Given the description of an element on the screen output the (x, y) to click on. 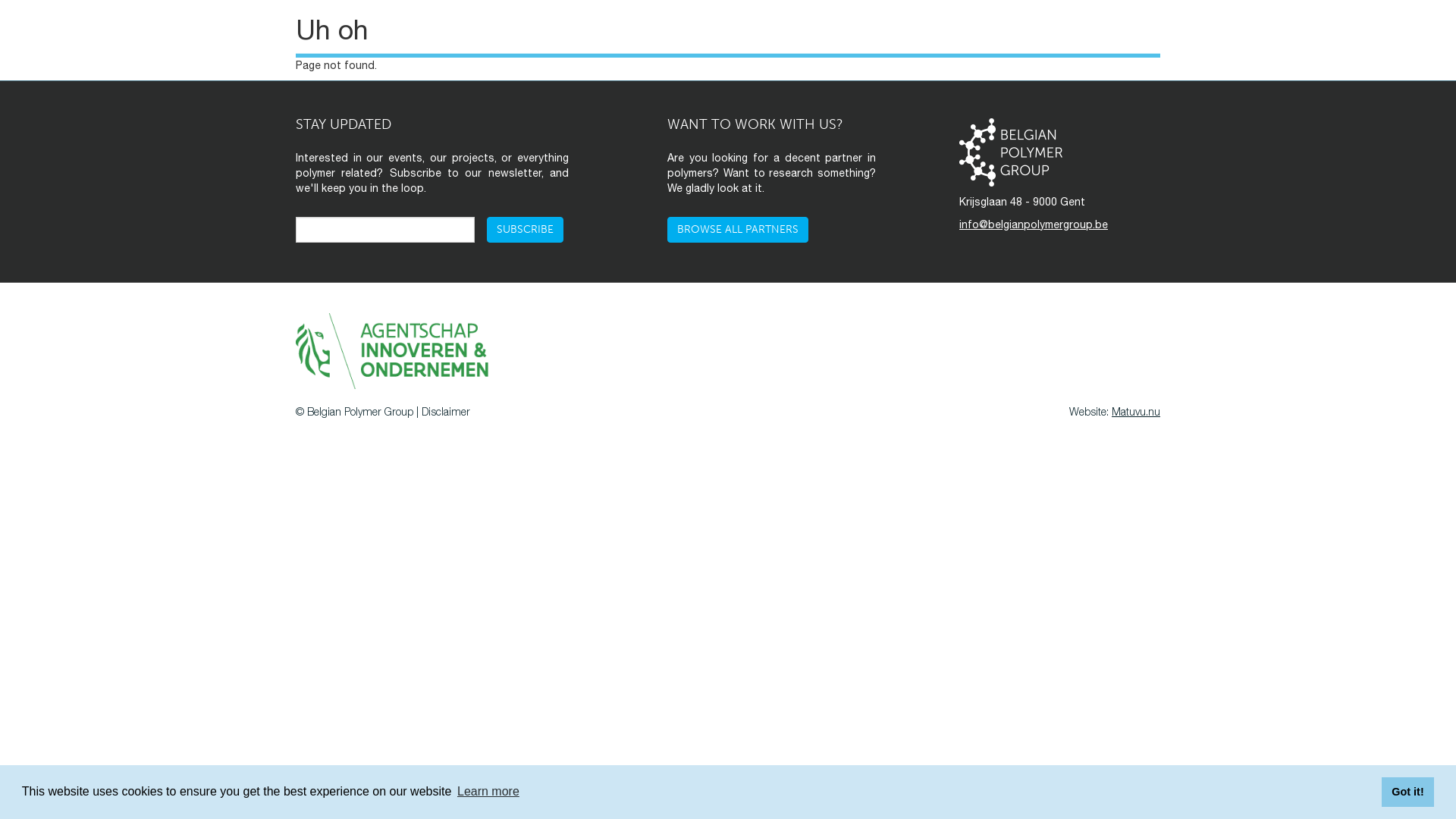
BROWSE ALL PARTNERS Element type: text (737, 229)
Got it! Element type: text (1407, 791)
Learn more Element type: text (488, 791)
Matuvu.nu Element type: text (1135, 410)
SUBSCRIBE Element type: text (524, 229)
info@belgianpolymergroup.be Element type: text (1033, 224)
